Given the description of an element on the screen output the (x, y) to click on. 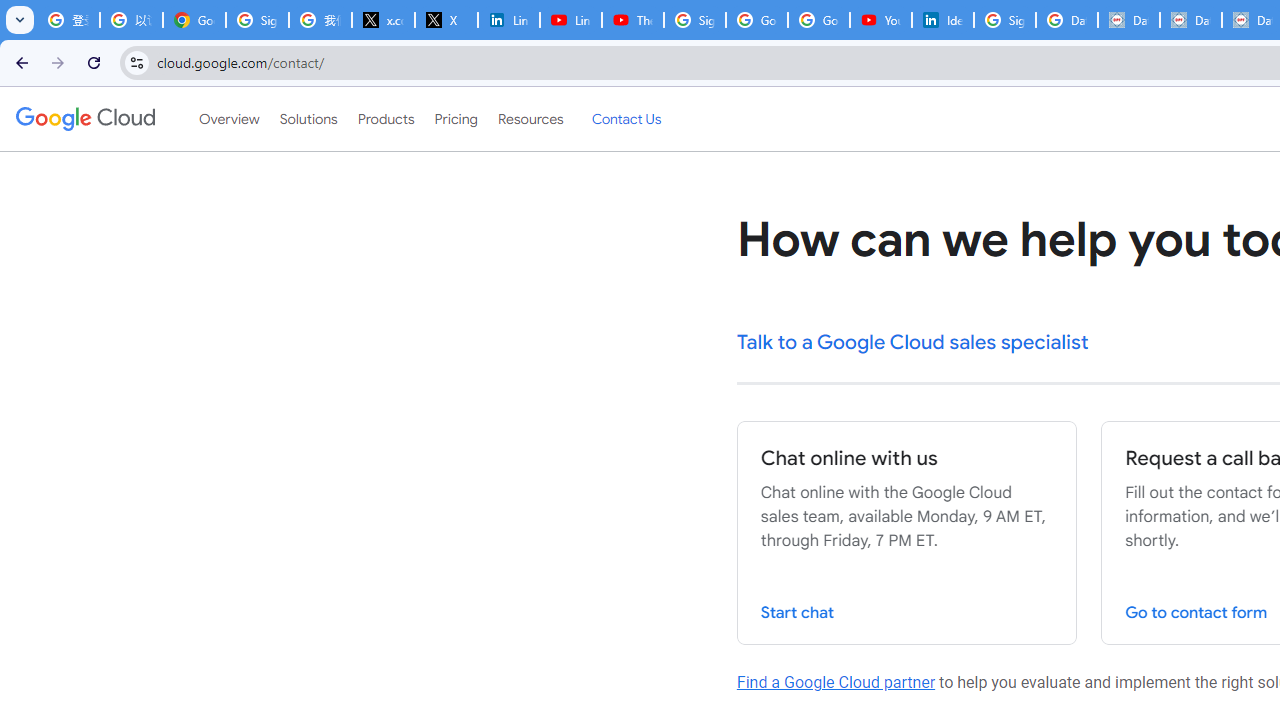
LinkedIn - YouTube (570, 20)
Resources (530, 119)
Sign in - Google Accounts (257, 20)
Sign in - Google Accounts (694, 20)
Pricing (455, 119)
X (445, 20)
Data Privacy Framework (1190, 20)
LinkedIn Privacy Policy (508, 20)
